Given the description of an element on the screen output the (x, y) to click on. 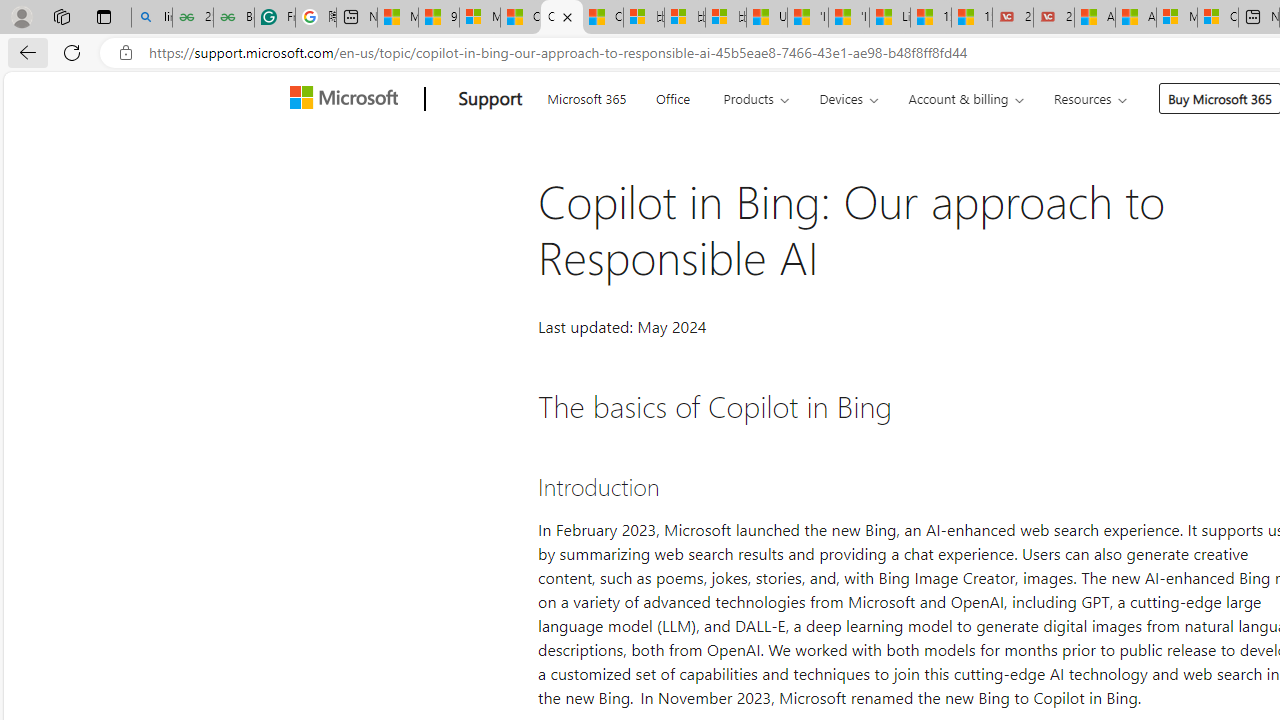
Best SSL Certificates Provider in India - GeeksforGeeks (233, 17)
